Given the description of an element on the screen output the (x, y) to click on. 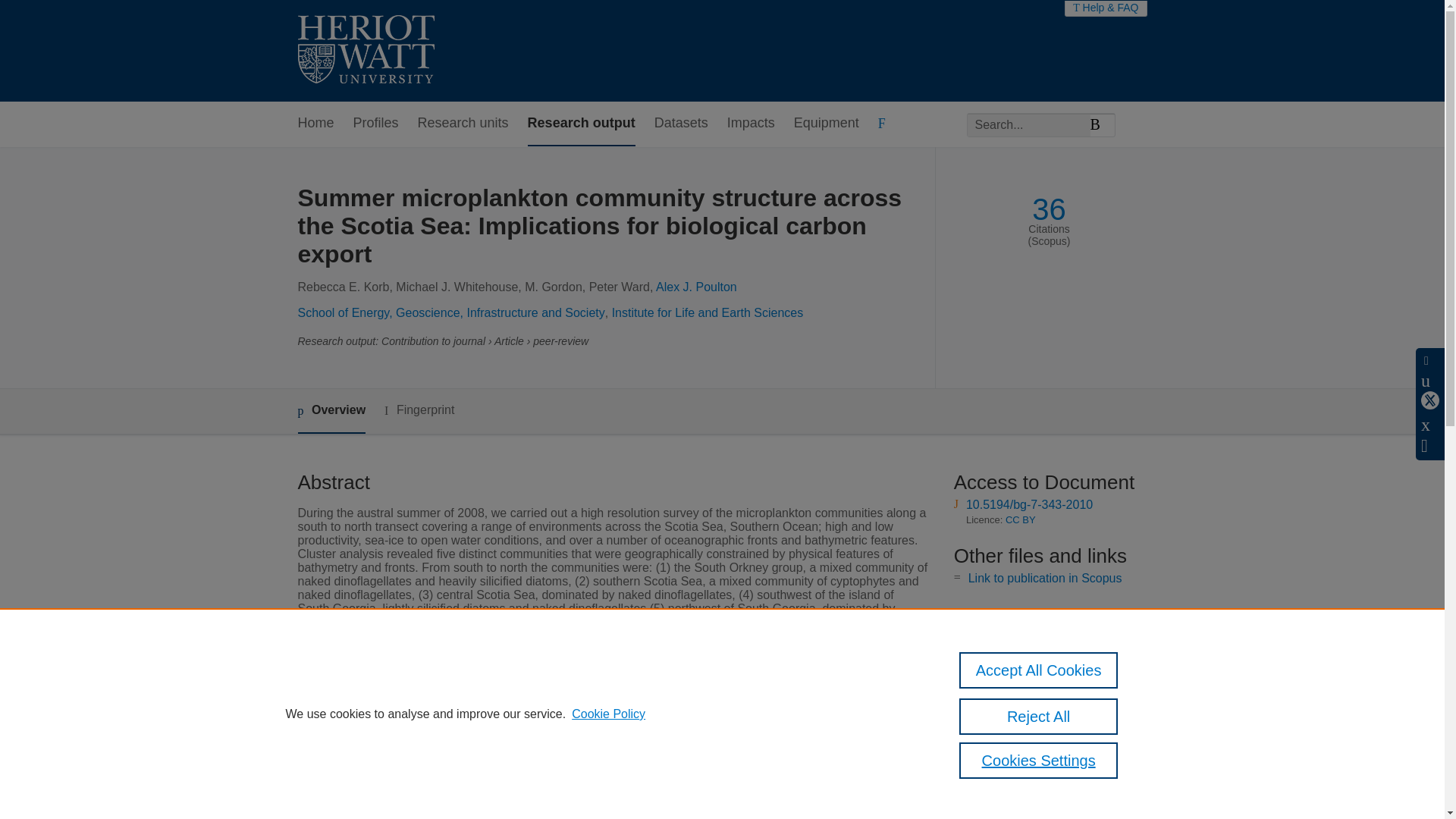
36 (1048, 209)
Equipment (826, 123)
Research units (462, 123)
CC BY (1020, 519)
Heriot-Watt Research Portal Home (365, 50)
Overview (331, 411)
Profiles (375, 123)
Research output (580, 123)
Alex J. Poulton (696, 286)
